Given the description of an element on the screen output the (x, y) to click on. 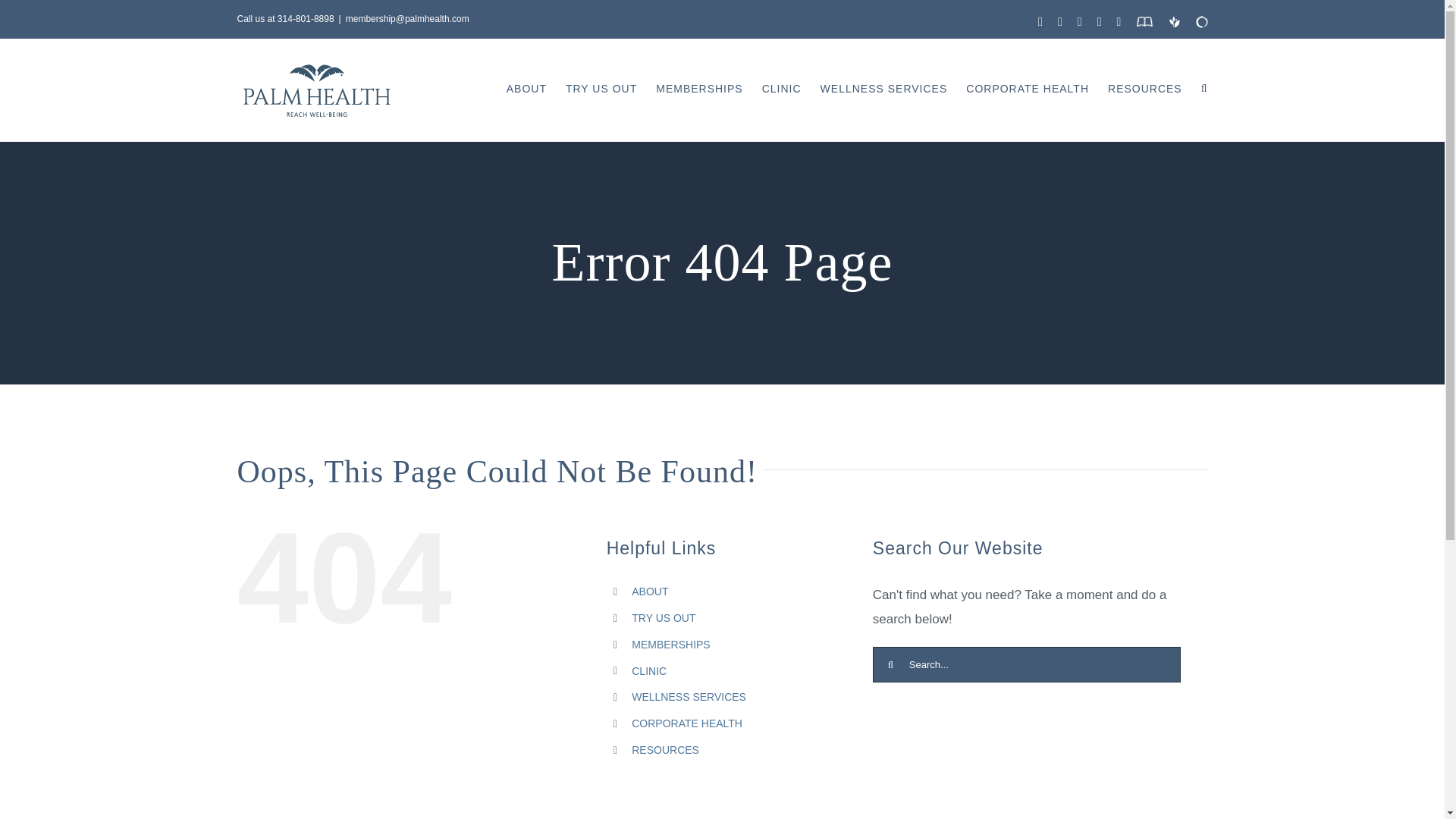
Blog (1144, 21)
Blog (1144, 21)
Wellness Portal (1201, 21)
Patient Health Portal (1173, 21)
Wellness Portal (1201, 21)
Patient Health Portal (1173, 21)
